Given the description of an element on the screen output the (x, y) to click on. 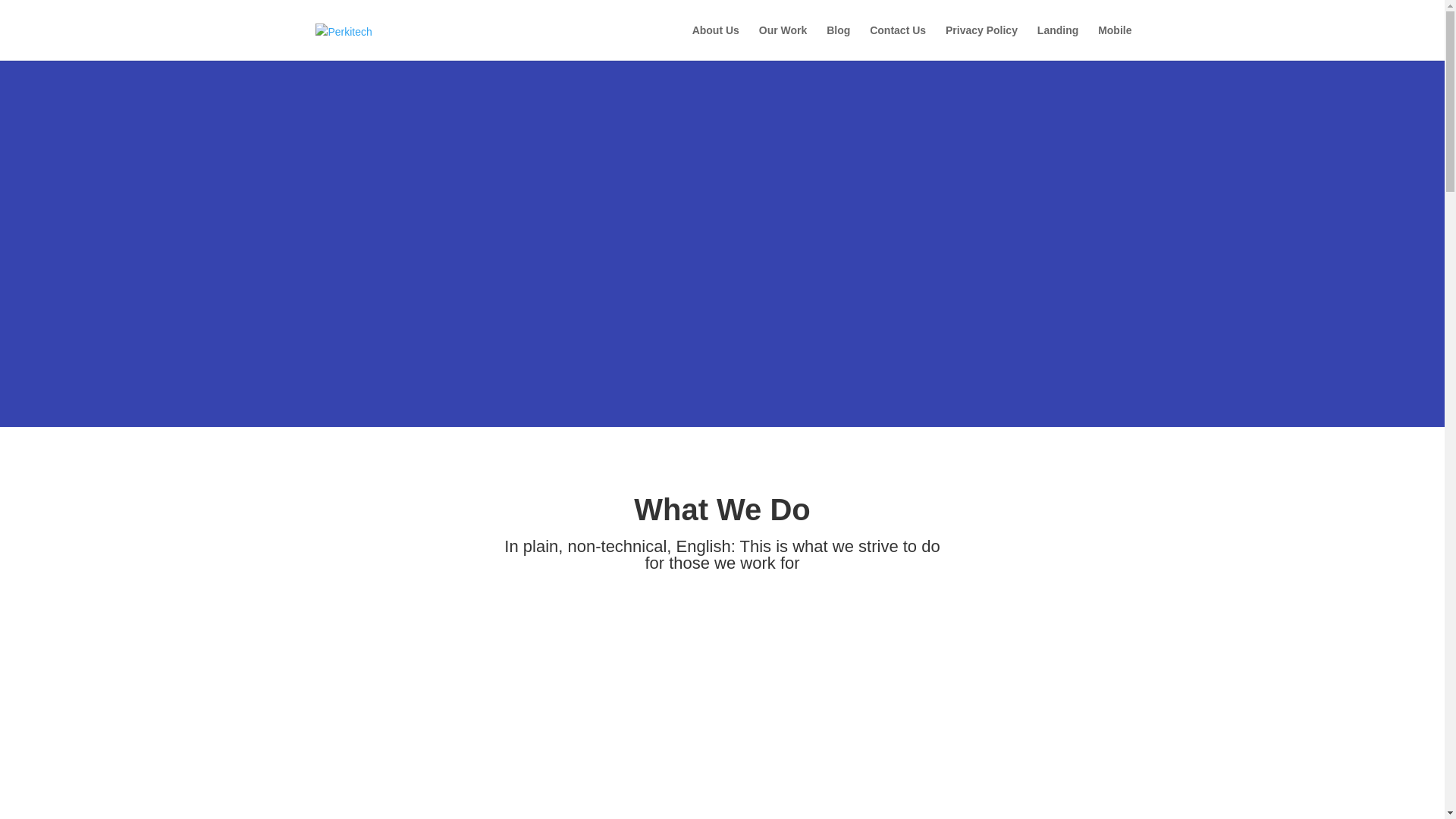
Contact Us (897, 42)
Our Work (783, 42)
Blog (838, 42)
About Us (716, 42)
Landing (1057, 42)
Mobile (1114, 42)
Privacy Policy (980, 42)
